Given the description of an element on the screen output the (x, y) to click on. 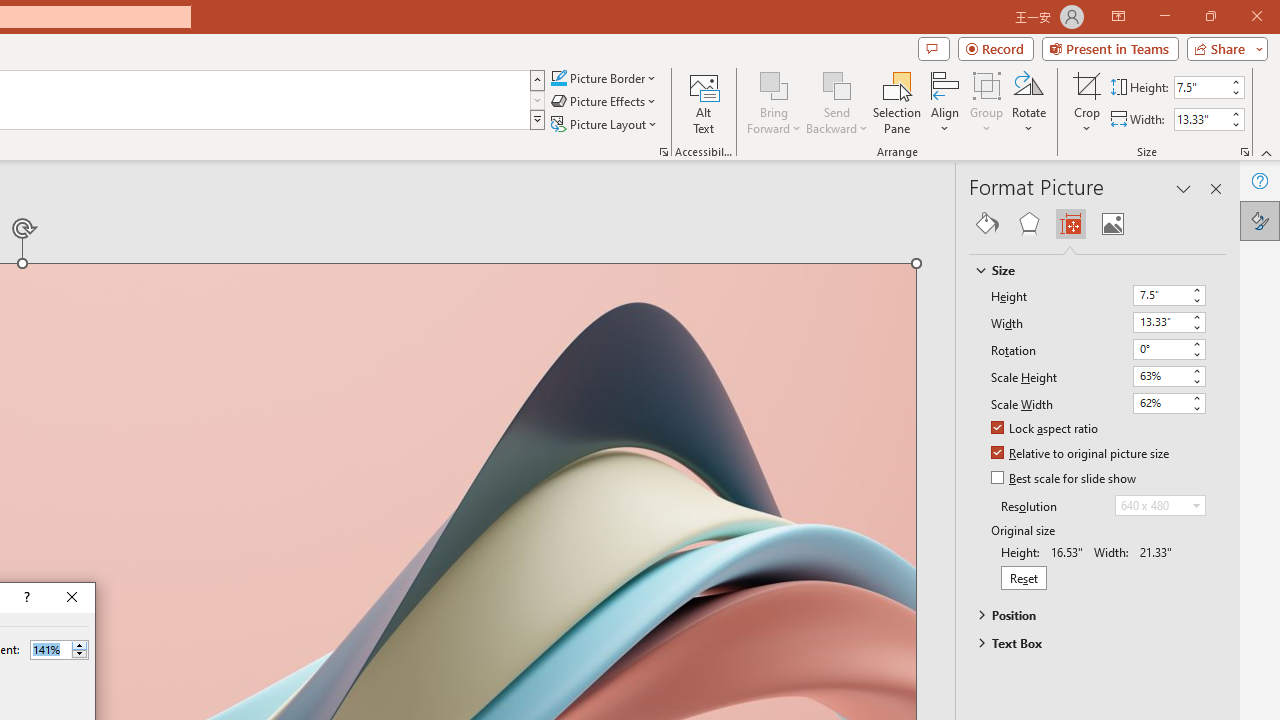
Shape Width (1201, 119)
Context help (25, 597)
Picture Effects (605, 101)
Bring Forward (773, 84)
Send Backward (836, 102)
Width (1160, 322)
Size (1088, 269)
Crop (1087, 102)
Group (987, 102)
Picture Layout (605, 124)
Scale Height (1160, 376)
